Given the description of an element on the screen output the (x, y) to click on. 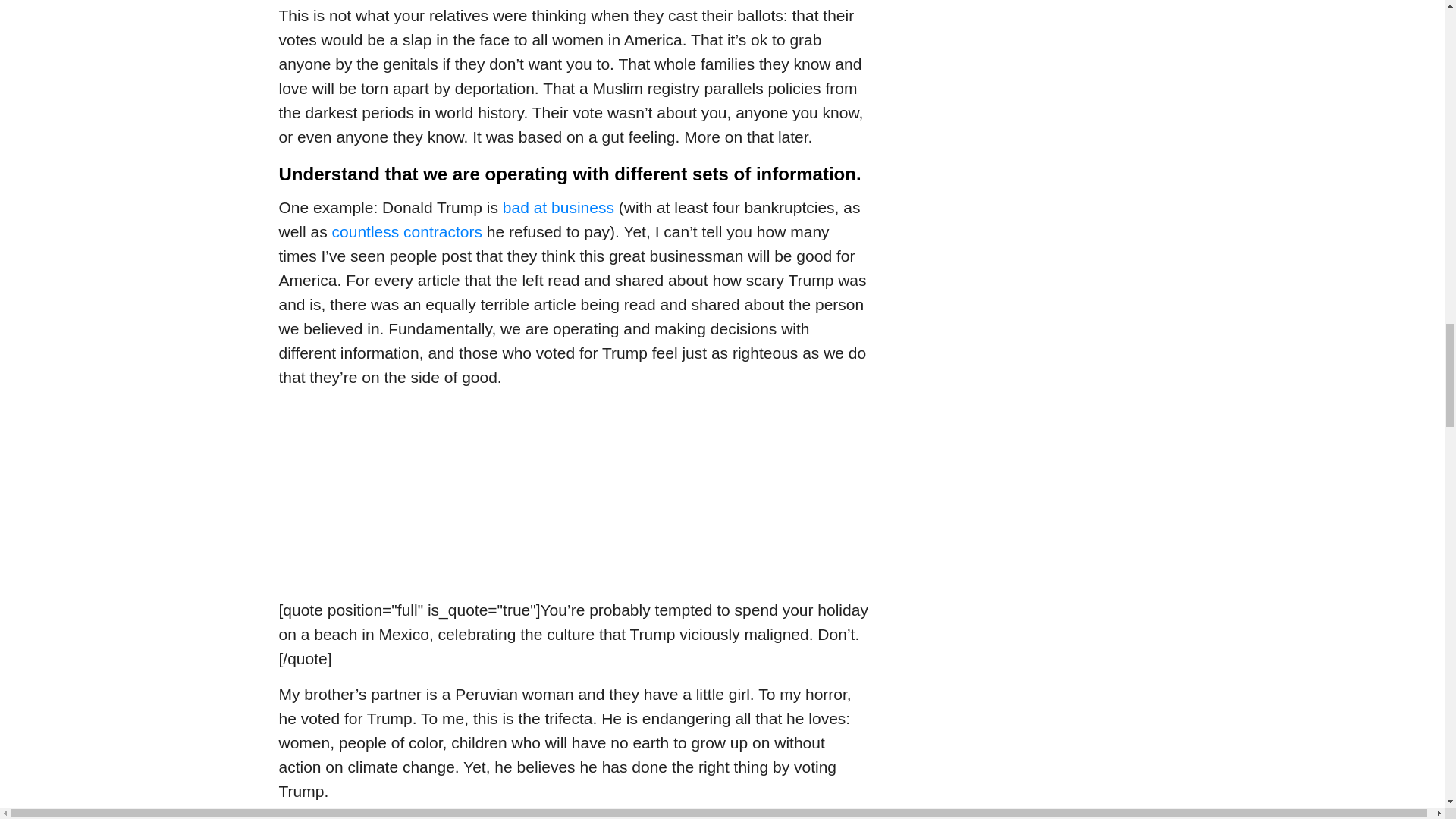
bad at business (558, 207)
countless contractors (406, 231)
